Given the description of an element on the screen output the (x, y) to click on. 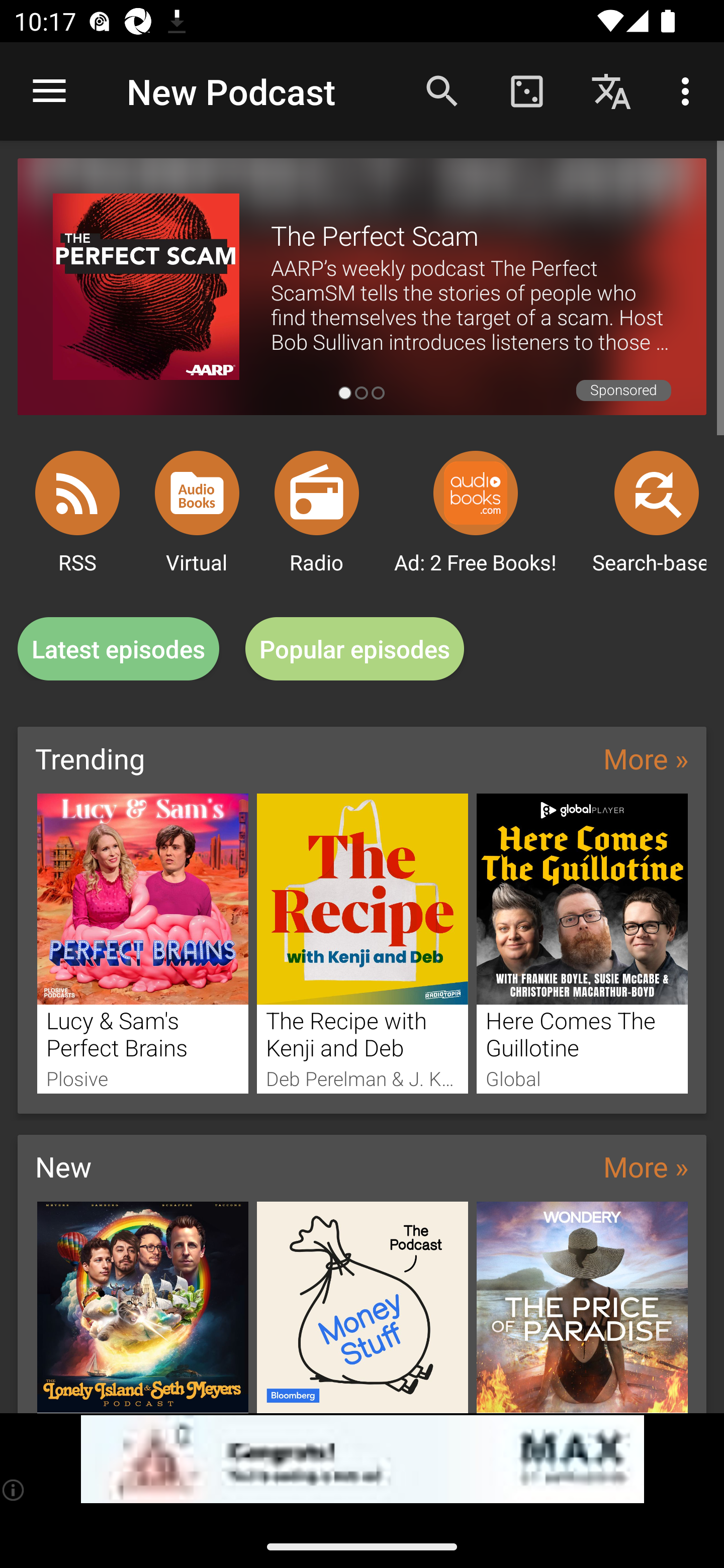
Open navigation sidebar (49, 91)
Search (442, 90)
Random pick (526, 90)
Podcast languages (611, 90)
More options (688, 90)
RSS (77, 492)
Virtual (196, 492)
Radio (316, 492)
Search-based (656, 492)
Latest episodes (118, 648)
Popular episodes (354, 648)
More » (645, 757)
Lucy & Sam's Perfect Brains Plosive (142, 942)
Here Comes The Guillotine Global (581, 942)
More » (645, 1166)
The Lonely Island and Seth Meyers Podcast (142, 1306)
Money Stuff: The Podcast (362, 1306)
The Price of Paradise (581, 1306)
app-monetization (362, 1459)
(i) (14, 1489)
